Given the description of an element on the screen output the (x, y) to click on. 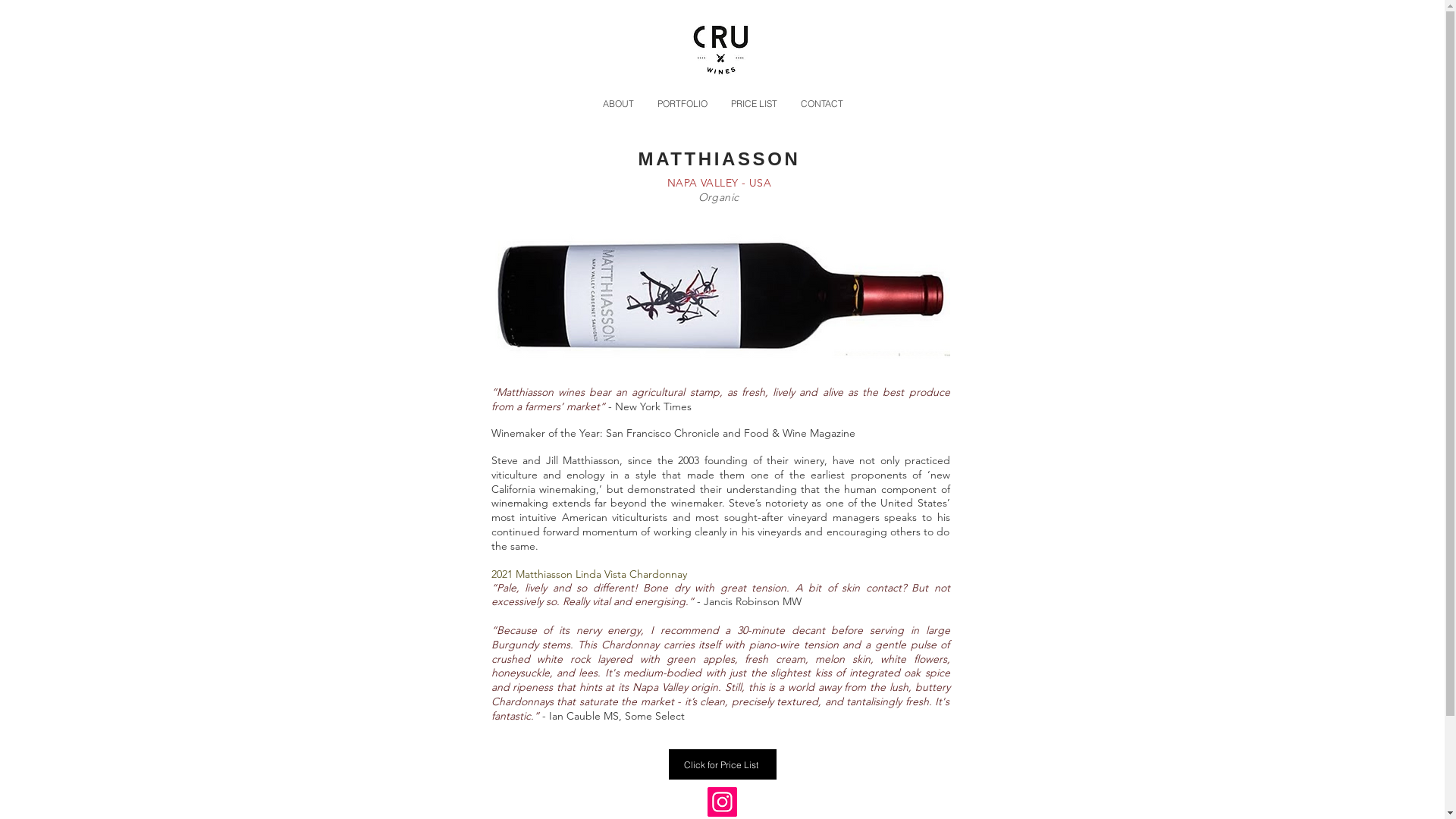
CONTACT Element type: text (821, 103)
cru website bottle images.png Element type: hover (720, 294)
PRICE LIST Element type: text (753, 103)
Click for Price List Element type: text (722, 764)
PORTFOLIO Element type: text (681, 103)
ABOUT Element type: text (616, 103)
